Given the description of an element on the screen output the (x, y) to click on. 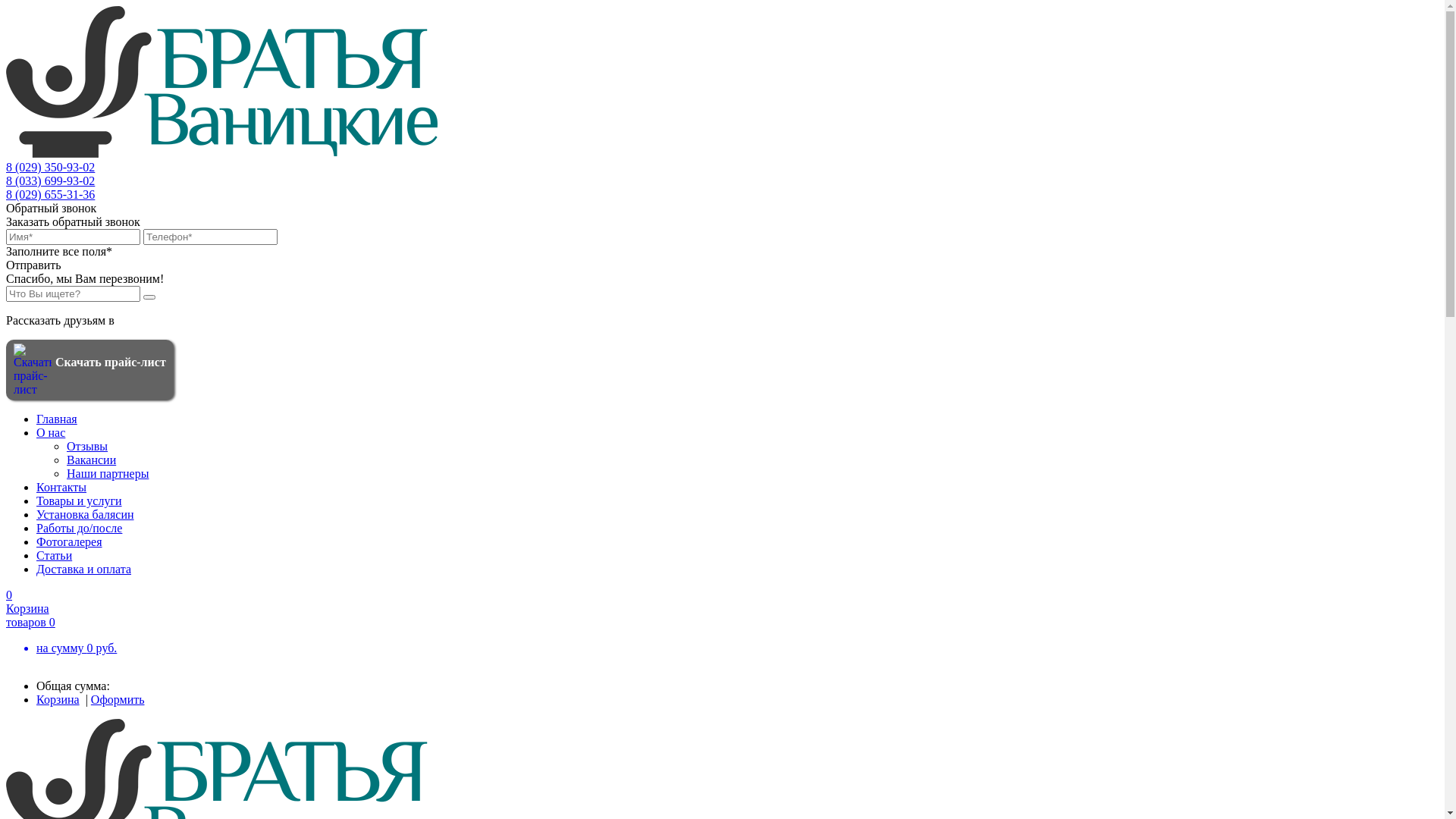
8 (029) 350-93-02 Element type: text (50, 166)
8 (033) 699-93-02 Element type: text (50, 180)
8 (029) 655-31-36 Element type: text (50, 194)
